Given the description of an element on the screen output the (x, y) to click on. 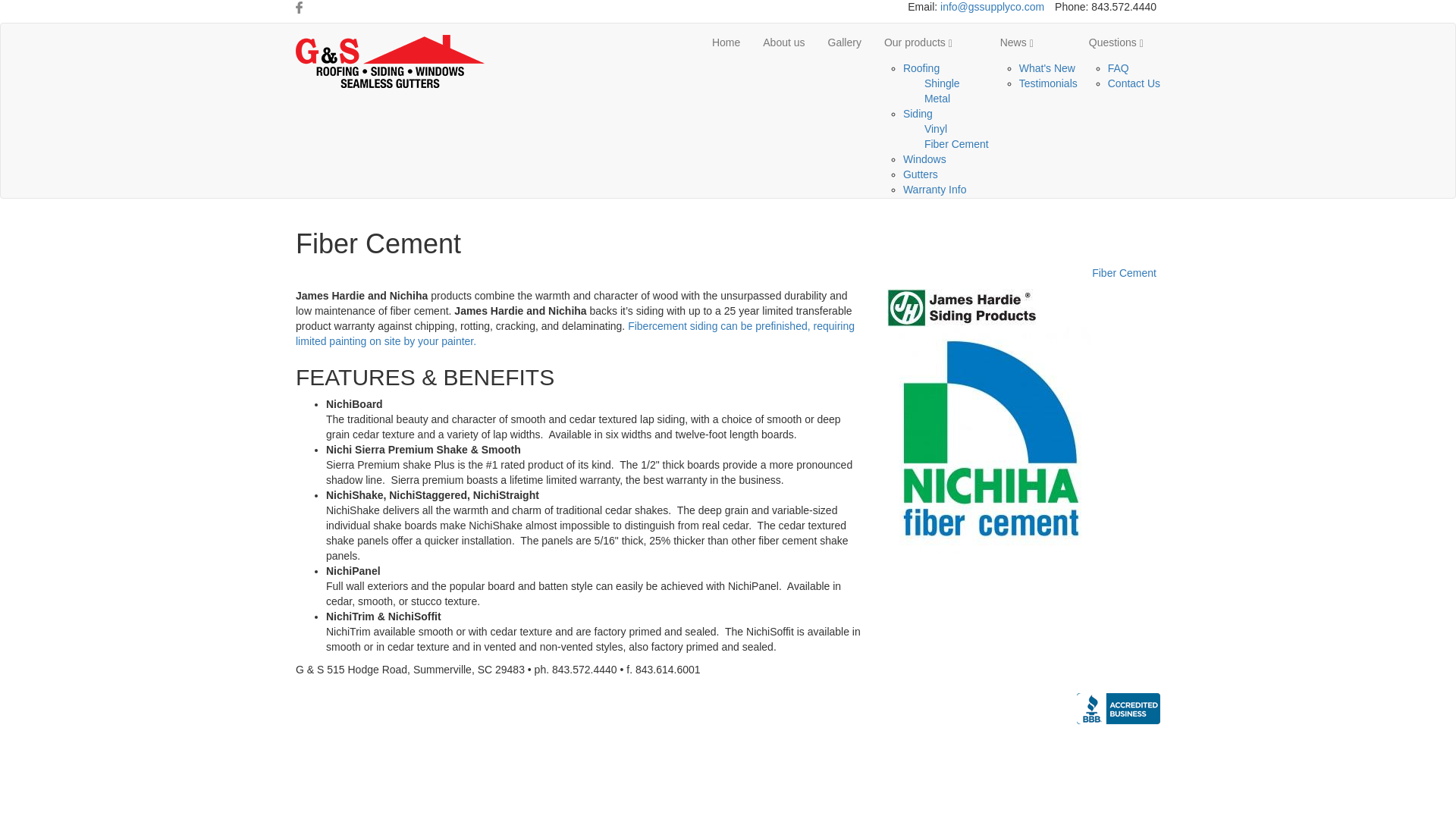
Gutters (919, 174)
Gallery (844, 42)
FAQ (1118, 68)
About us (783, 42)
Fiber Cement (956, 143)
Our products (930, 42)
Testimonials (1048, 82)
Siding (917, 113)
Home (762, 677)
What's New (1047, 68)
Shingle (941, 82)
Gallery (871, 677)
Warranty Info (934, 189)
Home (725, 42)
